Given the description of an element on the screen output the (x, y) to click on. 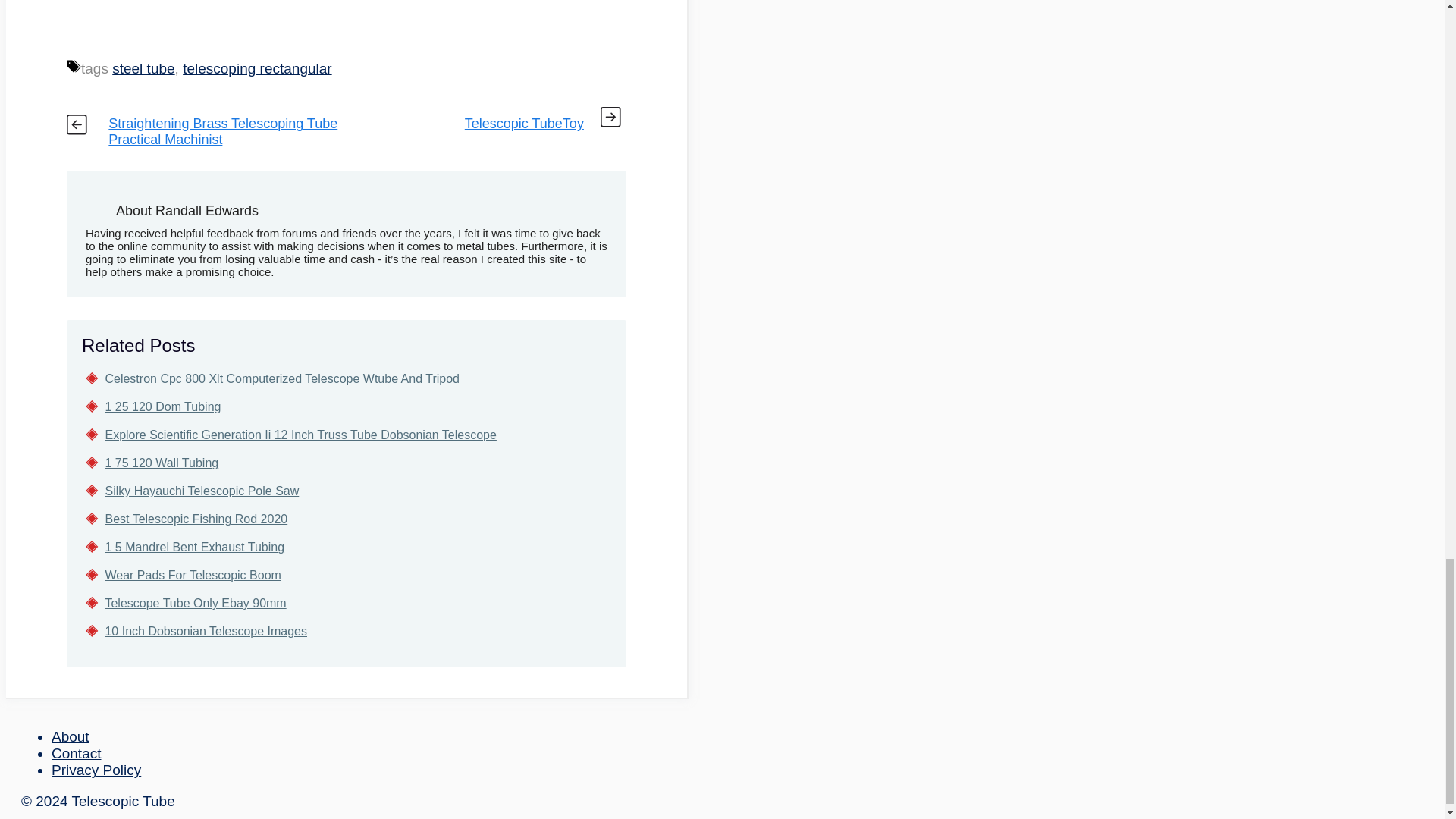
Best Telescopic Fishing Rod 2020 (195, 518)
Straightening Brass Telescoping Tube Practical Machinist (222, 131)
Silky Hayauchi Telescopic Pole Saw (201, 490)
Privacy Policy (95, 770)
Wear Pads For Telescopic Boom (192, 574)
1 5 Mandrel Bent Exhaust Tubing (193, 546)
1 75 120 Wall Tubing (161, 462)
About (69, 736)
telescoping rectangular (257, 68)
Contact (75, 753)
Telescopic TubeToy (523, 123)
10 Inch Dobsonian Telescope Images (205, 631)
steel tube (143, 68)
1 25 120 Dom Tubing (162, 406)
